Given the description of an element on the screen output the (x, y) to click on. 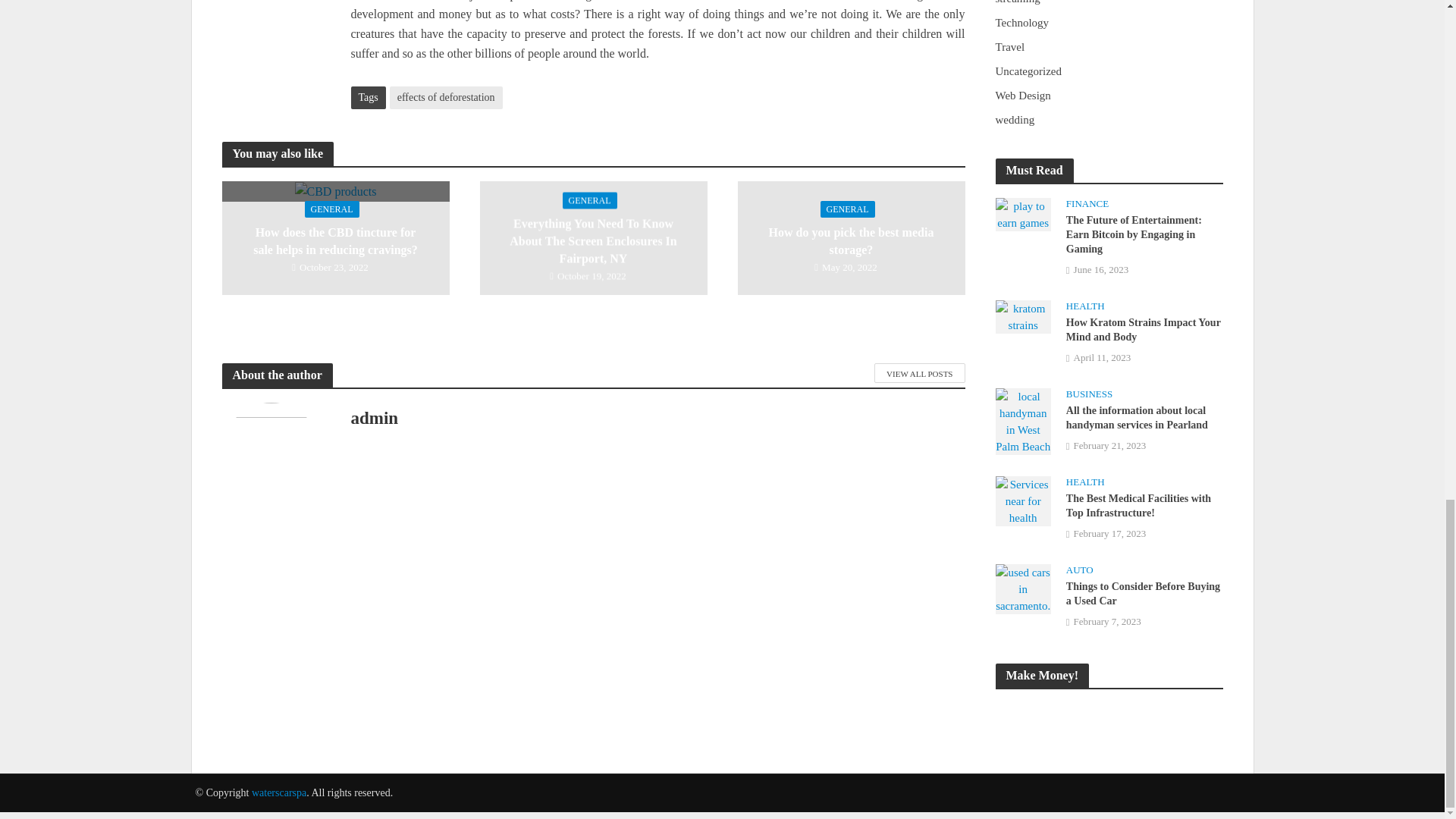
effects of deforestation (446, 97)
Things to Consider Before Buying a Used Car (1021, 587)
The Best Medical Facilities with Top Infrastructure! (1021, 499)
How Kratom Strains Impact Your Mind and Body (1021, 315)
GENERAL (331, 208)
